Given the description of an element on the screen output the (x, y) to click on. 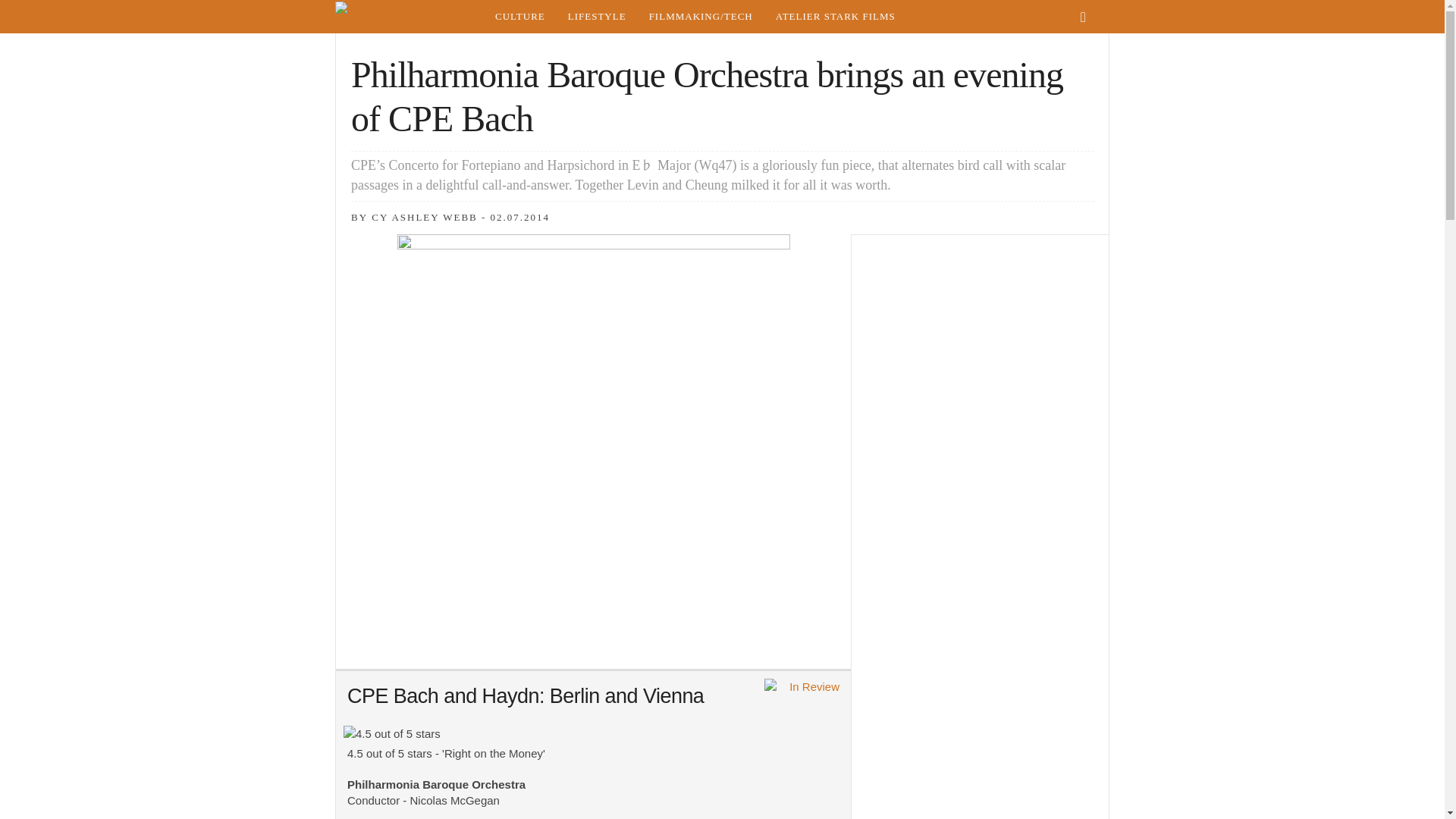
CULTURE (519, 16)
Stark Insider (408, 16)
Tech, gadgets, camera news and reviews from Silicon Valley (700, 16)
Indie film, music, arts in San Francisco and Silicon Valley (519, 16)
In Review (802, 688)
LIFESTYLE (596, 16)
ATELIER STARK FILMS (835, 16)
CY ASHLEY WEBB (424, 216)
